Given the description of an element on the screen output the (x, y) to click on. 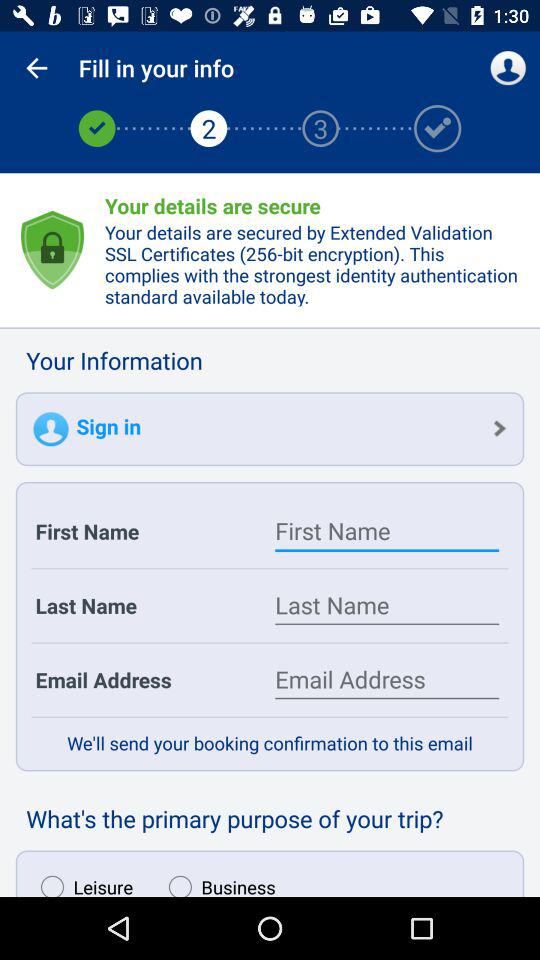
turn off app below what s the app (217, 881)
